Given the description of an element on the screen output the (x, y) to click on. 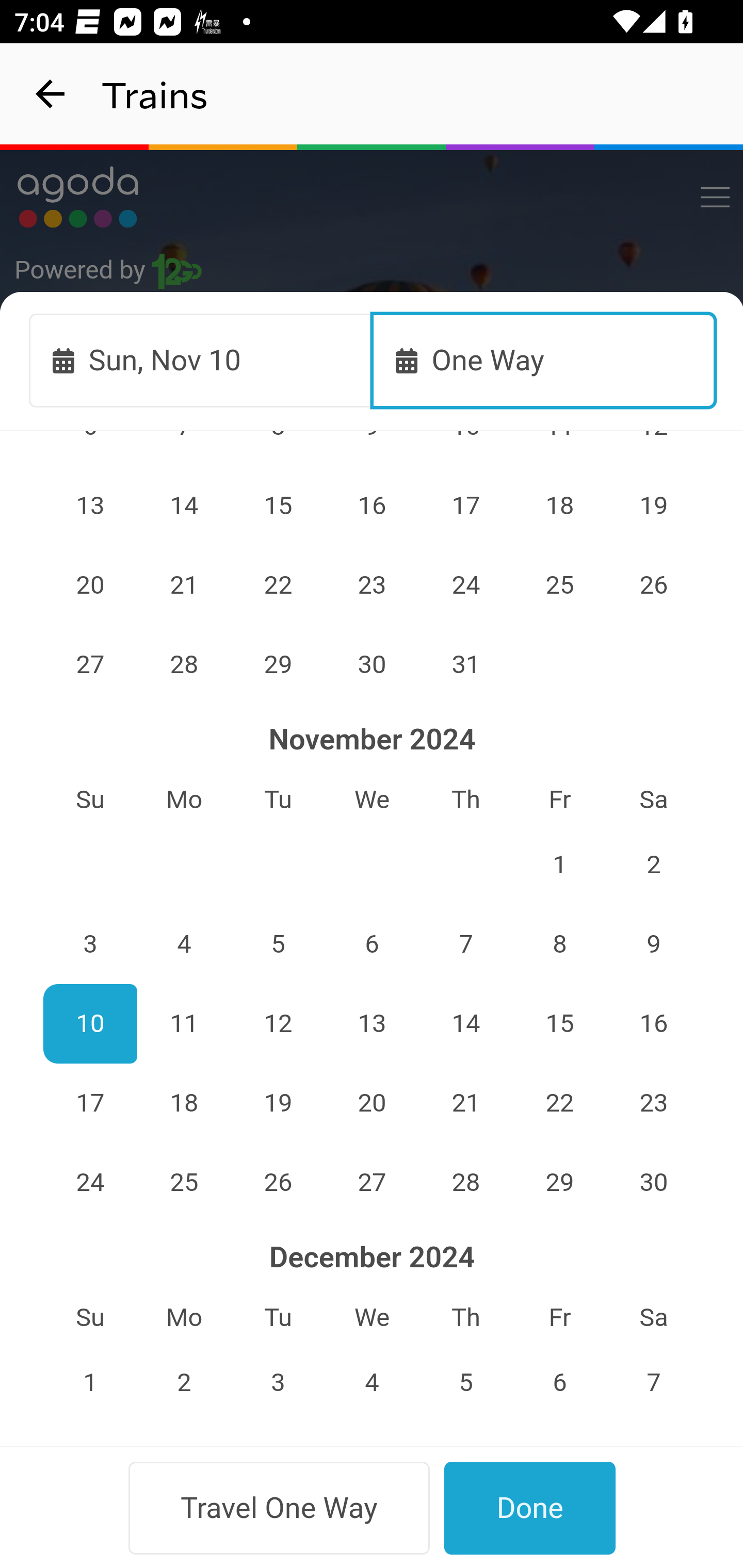
navigation_button (50, 93)
Sun, Nov 10 (200, 359)
One Way (544, 359)
13 (90, 505)
14 (184, 505)
15 (278, 505)
16 (372, 505)
17 (465, 505)
18 (559, 505)
19 (654, 505)
20 (90, 585)
21 (184, 585)
22 (278, 585)
23 (372, 585)
24 (465, 585)
25 (559, 585)
26 (654, 585)
27 (90, 663)
28 (184, 663)
29 (278, 663)
30 (372, 663)
31 (465, 663)
1 (559, 864)
2 (654, 864)
3 (90, 944)
4 (184, 944)
5 (278, 944)
6 (372, 944)
7 (465, 944)
8 (559, 944)
9 (654, 944)
10 (90, 1022)
11 (184, 1022)
12 (278, 1022)
13 (372, 1022)
14 (465, 1022)
15 (559, 1022)
16 (654, 1022)
17 (90, 1102)
18 (184, 1102)
19 (278, 1102)
20 (372, 1102)
21 (465, 1102)
22 (559, 1102)
23 (654, 1102)
24 (90, 1182)
25 (184, 1182)
26 (278, 1182)
27 (372, 1182)
